Given the description of an element on the screen output the (x, y) to click on. 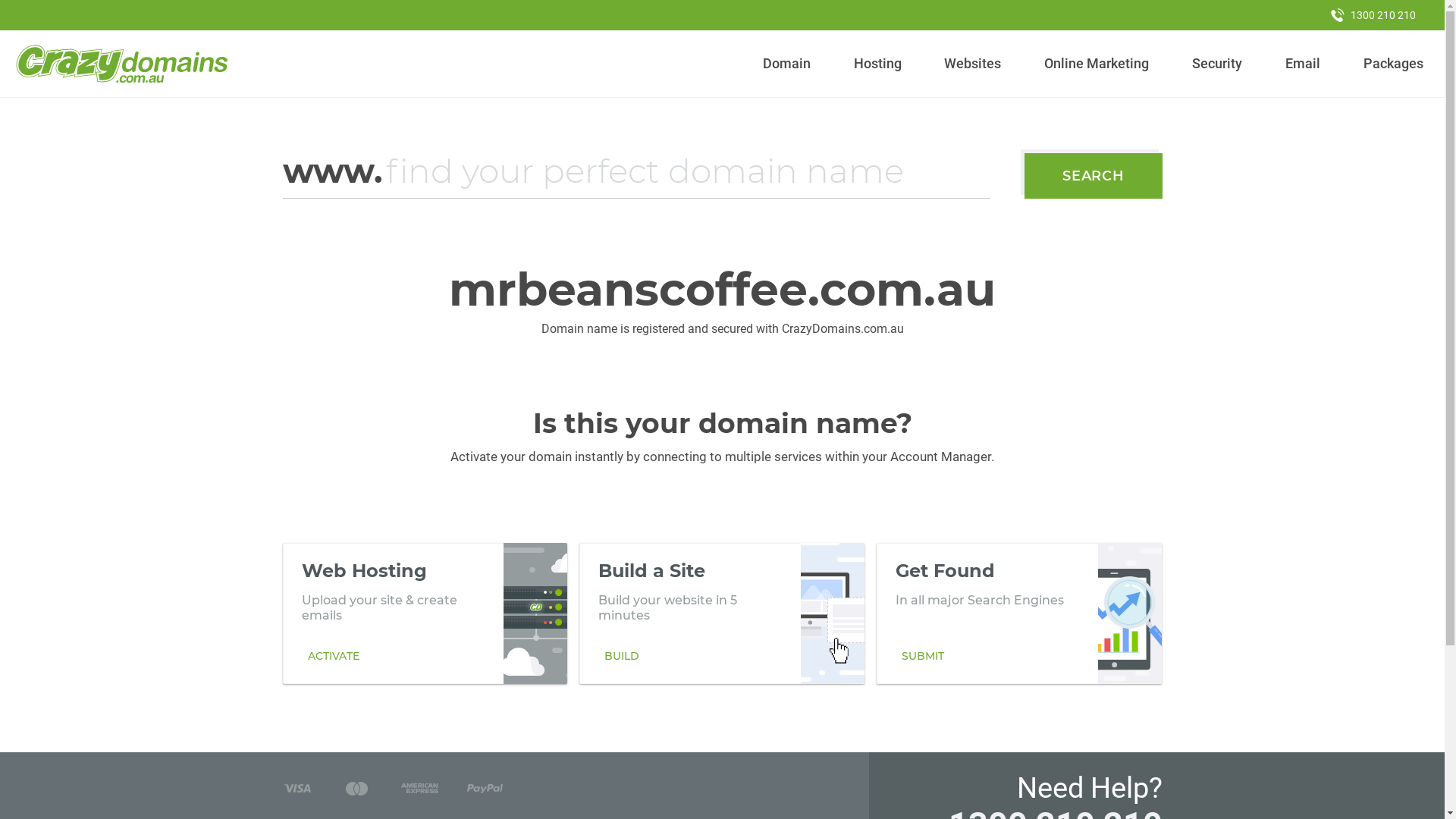
Packages Element type: text (1392, 63)
Build a Site
Build your website in 5 minutes
BUILD Element type: text (721, 613)
Get Found
In all major Search Engines
SUBMIT Element type: text (1018, 613)
SEARCH Element type: text (1092, 175)
1300 210 210 Element type: text (1373, 15)
Domain Element type: text (786, 63)
Web Hosting
Upload your site & create emails
ACTIVATE Element type: text (424, 613)
Email Element type: text (1302, 63)
Hosting Element type: text (877, 63)
Security Element type: text (1217, 63)
Online Marketing Element type: text (1096, 63)
Websites Element type: text (972, 63)
